Given the description of an element on the screen output the (x, y) to click on. 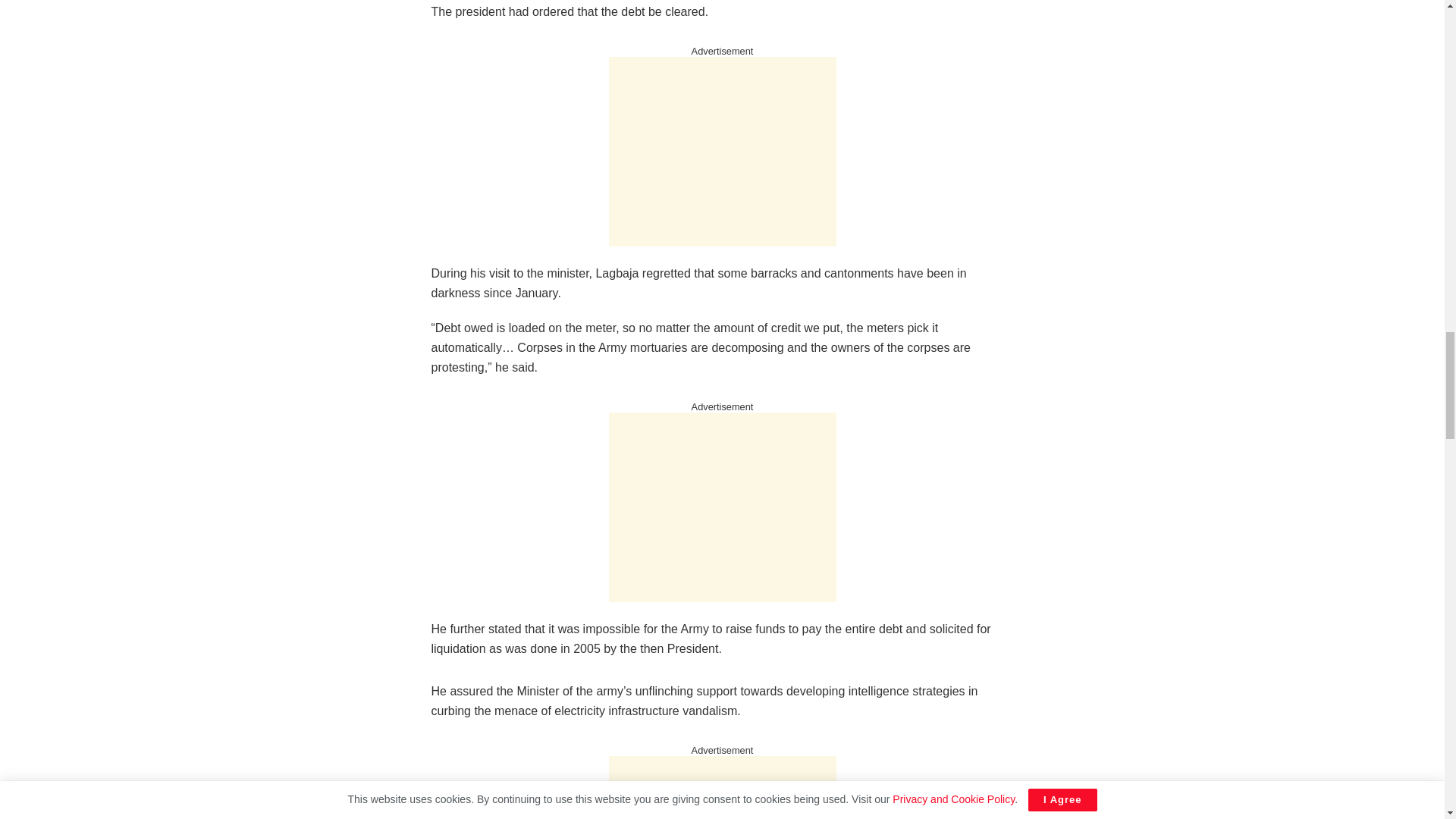
Advertisement (721, 151)
Advertisement (721, 506)
Advertisement (721, 787)
